Given the description of an element on the screen output the (x, y) to click on. 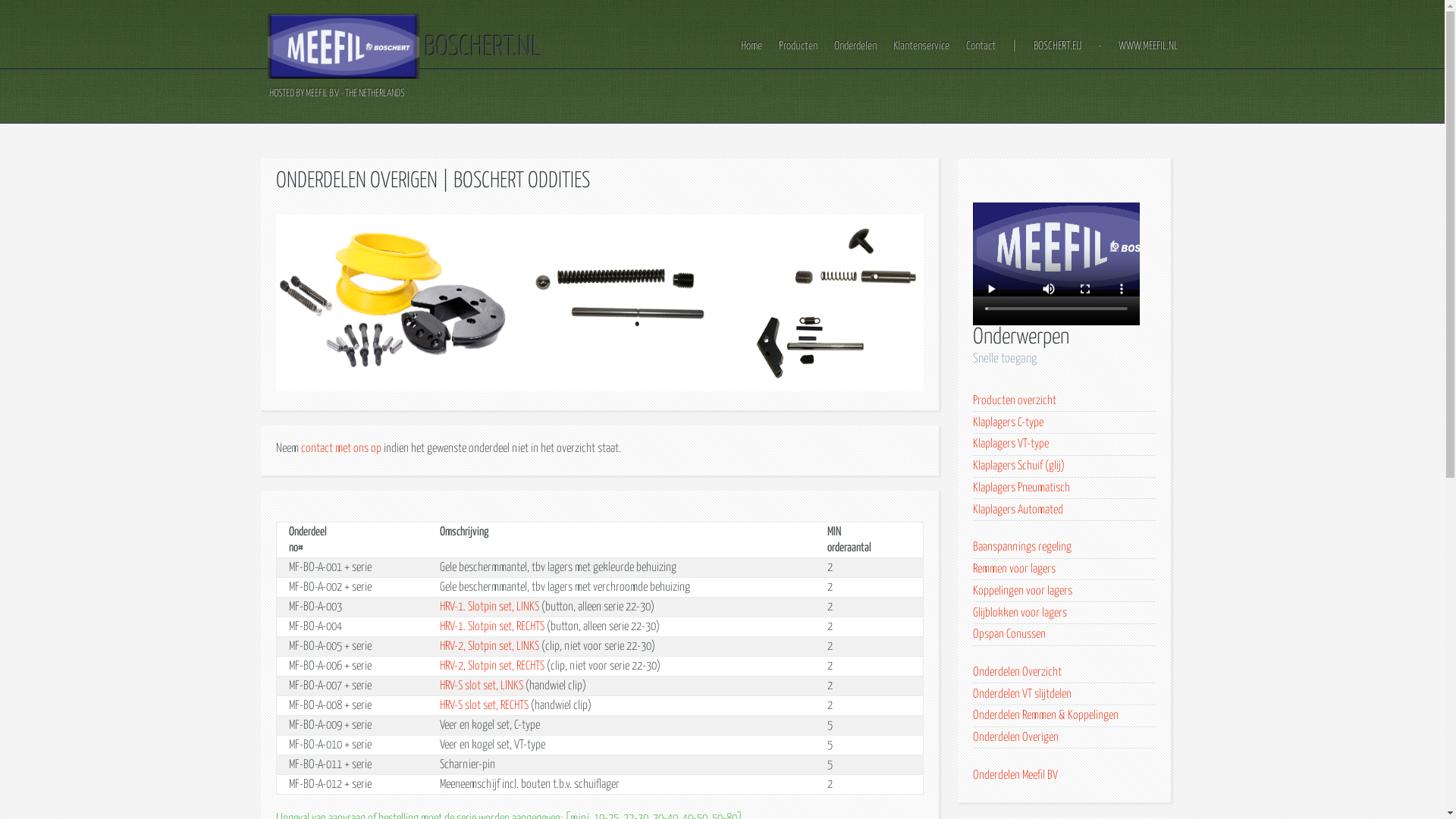
Home Element type: text (750, 45)
HRV-S slot set, RECHTS Element type: text (483, 705)
HRV-2, Slotpin set, LINKS Element type: text (489, 646)
Onderdelen Meefil BV Element type: text (1014, 775)
Contact Element type: text (980, 45)
HRV-1. Slotpin set, RECHTS Element type: text (491, 626)
HRV-2, Slotpin set, RECHTS Element type: text (491, 665)
Opspan Conussen Element type: text (1008, 634)
MEEFIL BV Element type: hover (342, 45)
Klaplagers VT-type Element type: text (1010, 443)
Onderdelen Element type: text (855, 45)
WWW.MEEFIL.NL Element type: text (1146, 45)
Onderdelen Overzicht Element type: text (1016, 671)
Glijblokken voor lagers Element type: text (1019, 612)
HRV-S slot set, LINKS Element type: text (481, 685)
Klaplagers Automated Element type: text (1017, 509)
Klaplagers Schuif (glij) Element type: text (1018, 465)
Baanspannings regeling Element type: text (1021, 546)
| Element type: text (1013, 45)
- Element type: text (1099, 45)
HRV-1. Slotpin set, LINKS Element type: text (489, 606)
Producten Element type: text (797, 45)
Koppelingen voor lagers Element type: text (1022, 590)
Producten overzicht Element type: text (1014, 400)
Klantenservice Element type: text (921, 45)
Onderdelen Overigen Element type: text (1015, 737)
Remmen voor lagers Element type: text (1013, 568)
Onderdelen VT slijtdelen Element type: text (1021, 693)
Klaplagers C-type Element type: text (1007, 422)
BOSCHERT.EU Element type: text (1056, 45)
Klaplagers Pneumatisch Element type: text (1021, 487)
contact met ons op Element type: text (342, 448)
Onderdelen Remmen & Koppelingen Element type: text (1045, 715)
